Given the description of an element on the screen output the (x, y) to click on. 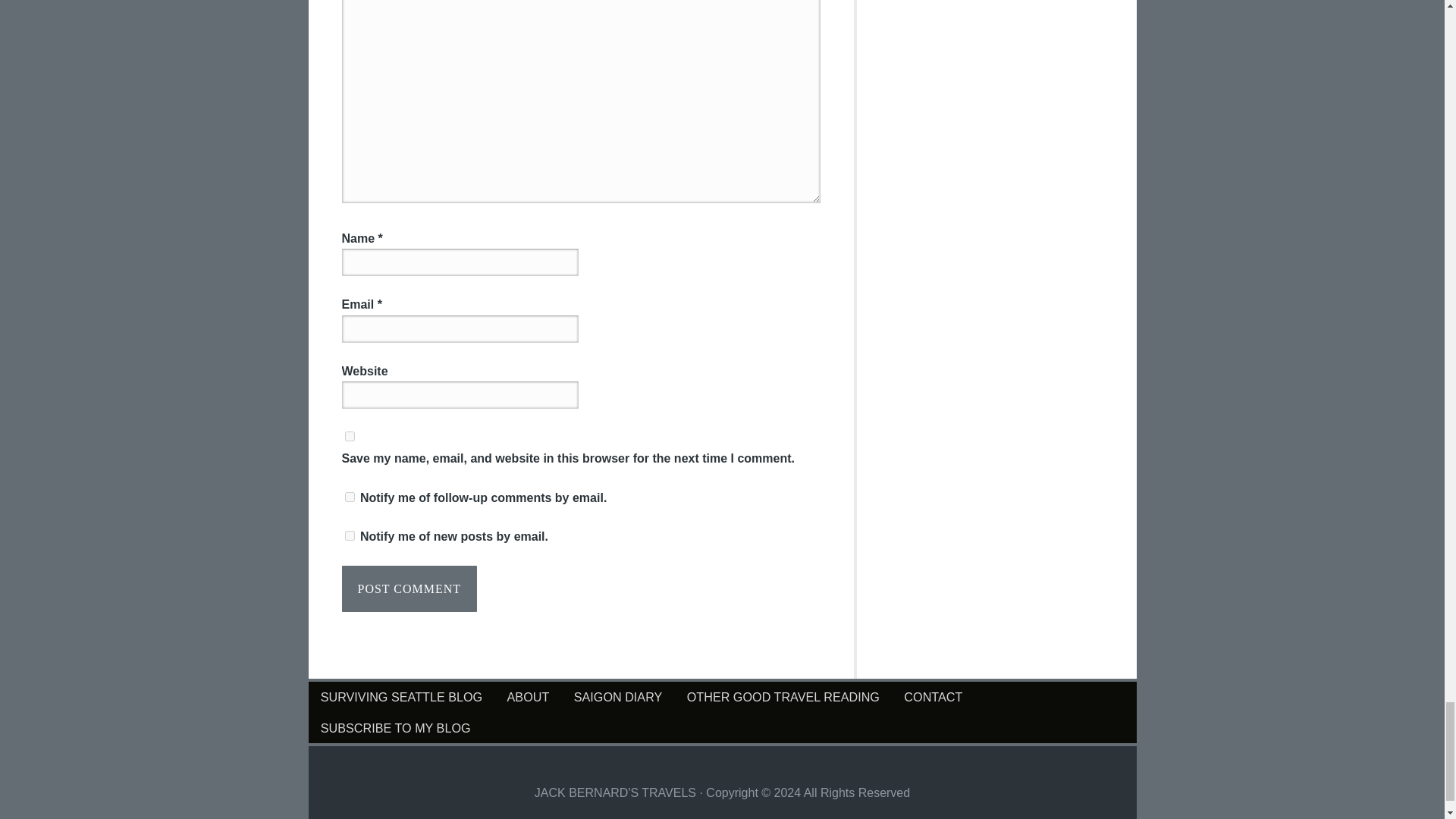
yes (348, 436)
Post Comment (408, 588)
subscribe (348, 497)
Post Comment (408, 588)
subscribe (348, 535)
